Given the description of an element on the screen output the (x, y) to click on. 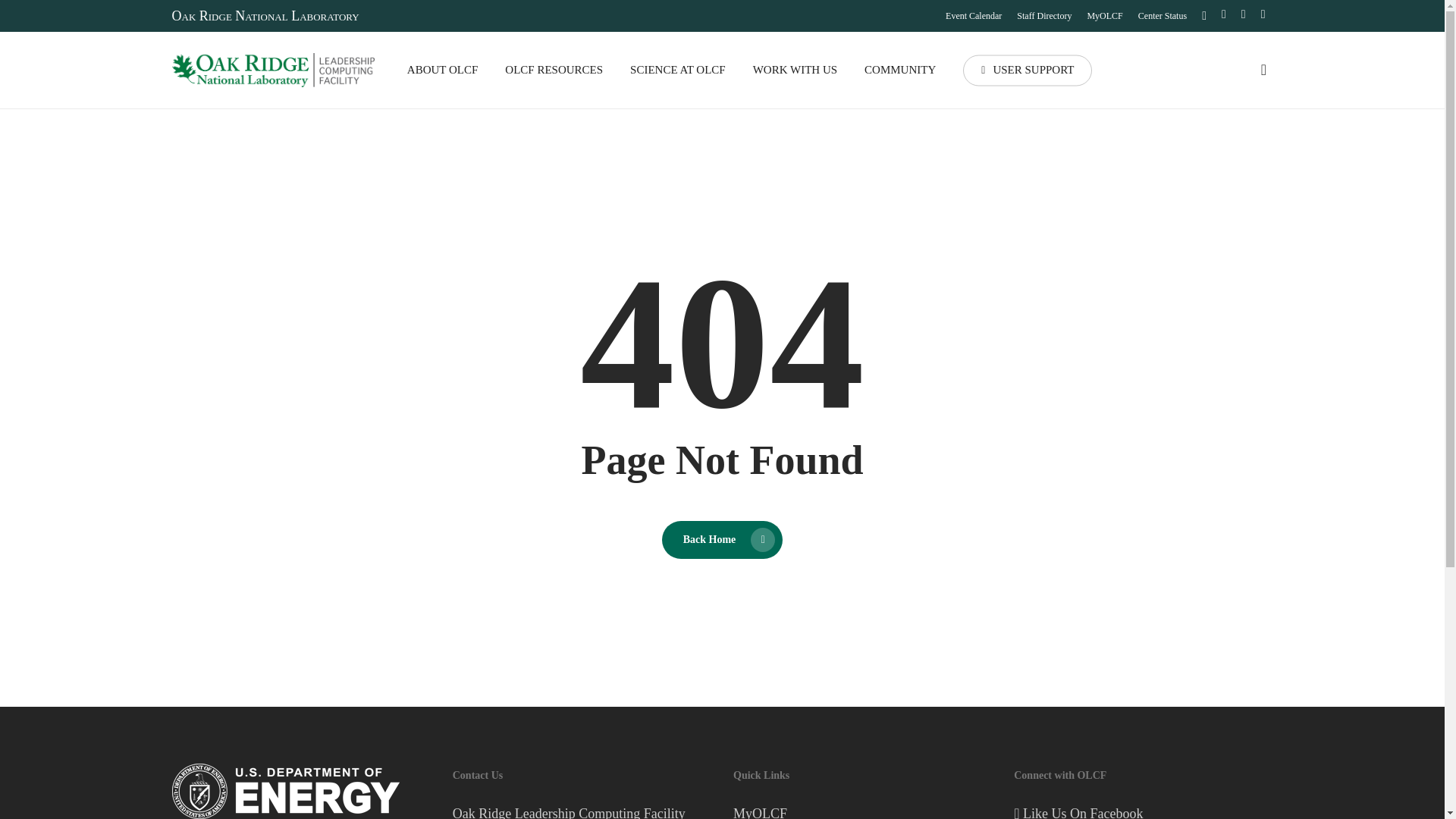
ABOUT OLCF (443, 69)
OLCF RESOURCES (553, 69)
MyOLCF (1104, 15)
Oak Ridge National Laboratory (264, 15)
Staff Directory (1043, 15)
Center Status (1162, 15)
Event Calendar (972, 15)
SCIENCE AT OLCF (677, 69)
